Given the description of an element on the screen output the (x, y) to click on. 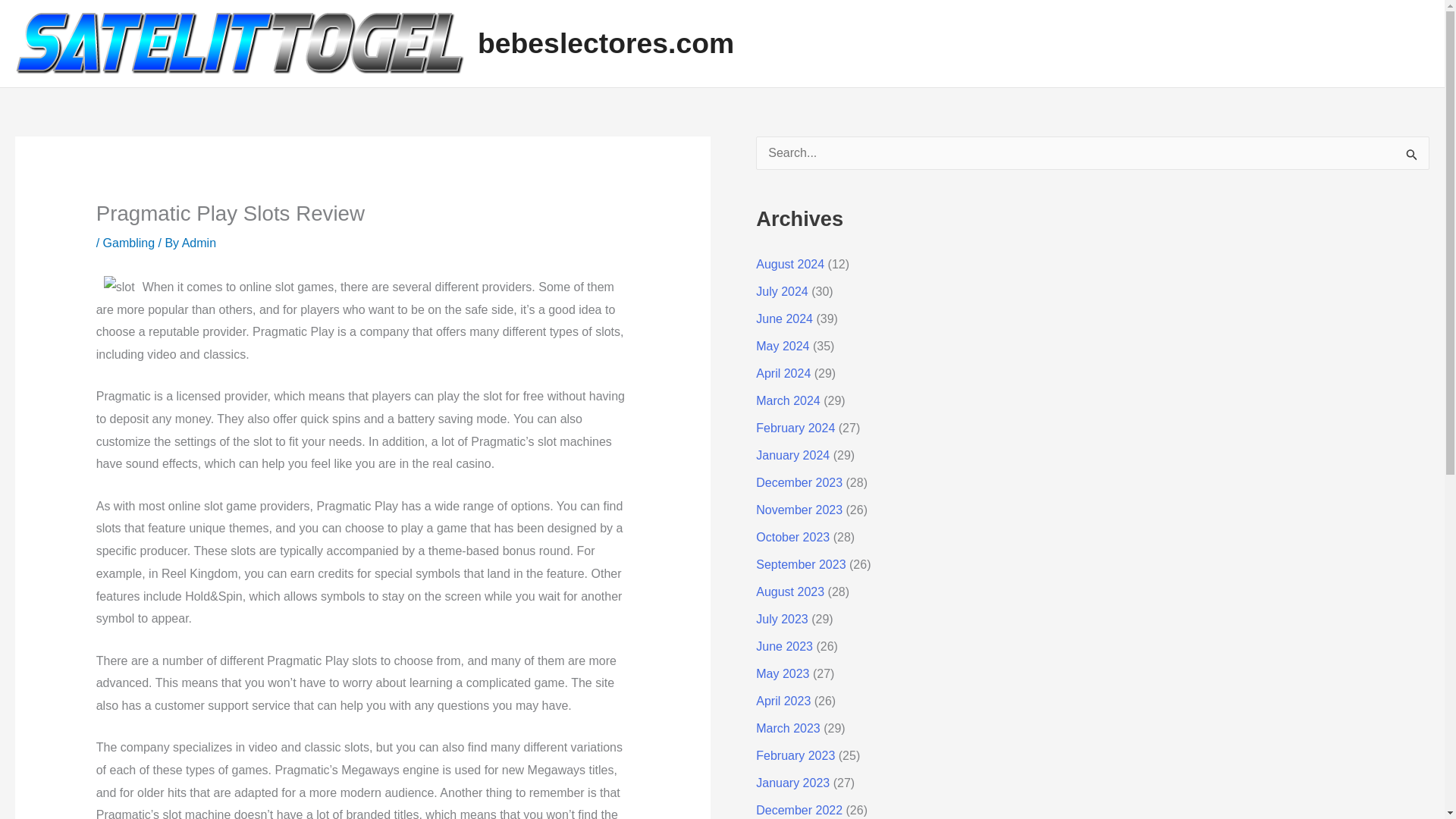
February 2024 (794, 427)
December 2022 (799, 809)
May 2024 (782, 345)
Admin (198, 242)
April 2024 (782, 373)
bebeslectores.com (605, 42)
View all posts by Admin (198, 242)
July 2023 (781, 618)
July 2024 (781, 291)
November 2023 (799, 509)
